Given the description of an element on the screen output the (x, y) to click on. 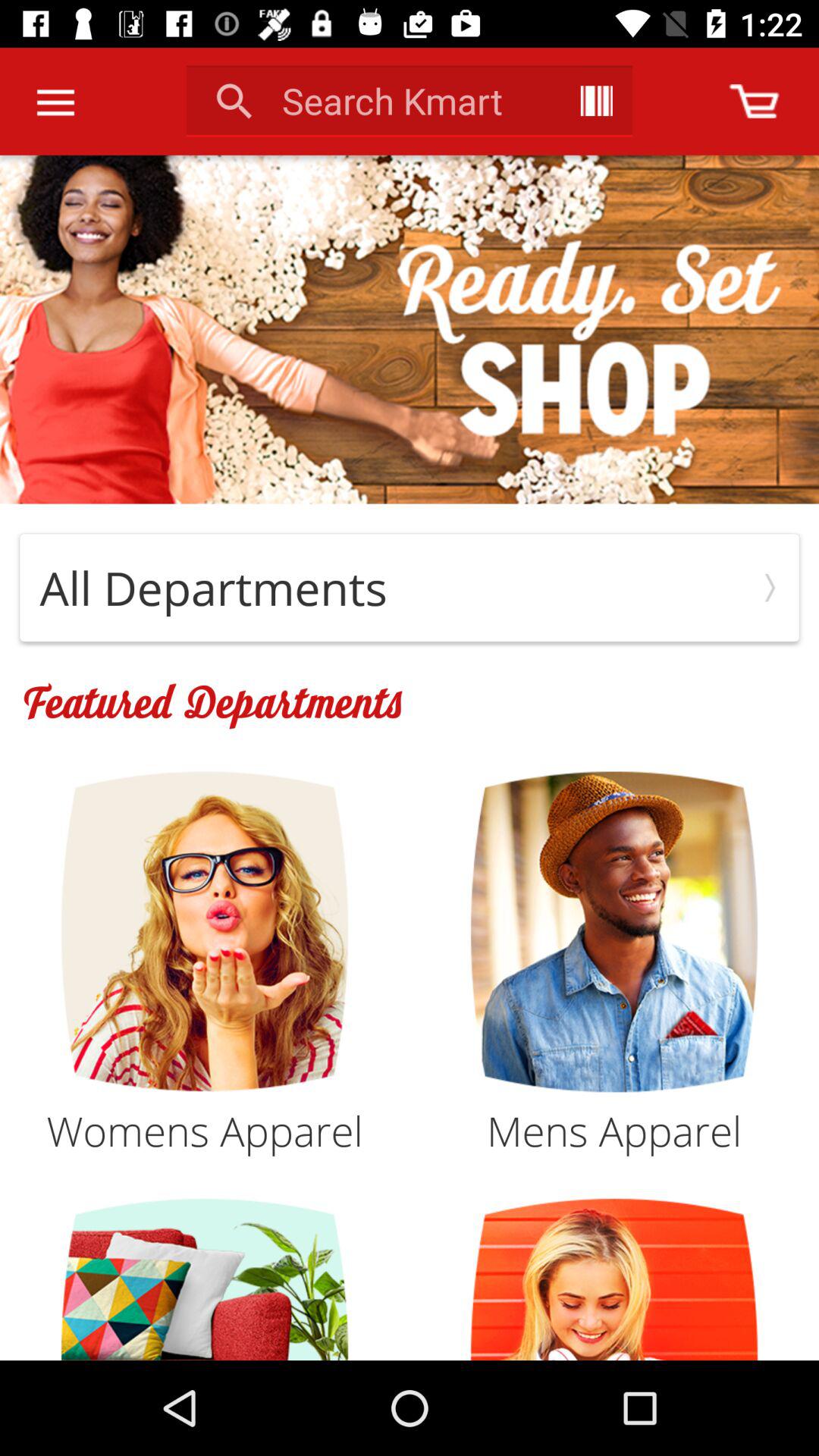
checkout cart (754, 101)
